Given the description of an element on the screen output the (x, y) to click on. 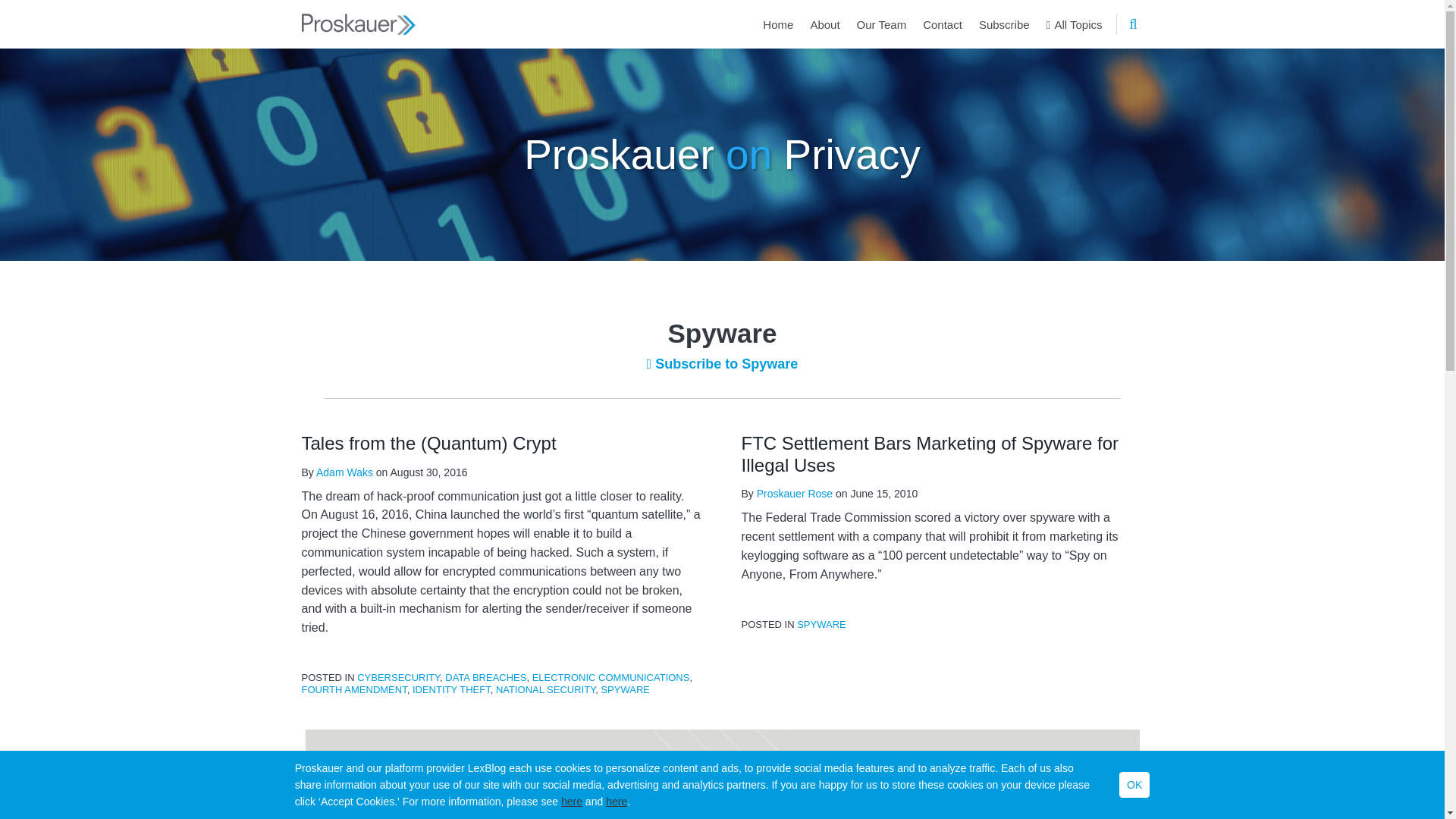
NATIONAL SECURITY (545, 689)
Proskauer on Privacy (722, 153)
Subscribe to this Blog (937, 774)
CYBERSECURITY (397, 677)
FOURTH AMENDMENT (354, 689)
FTC Settlement Bars Marketing of Spyware for Illegal Uses (930, 454)
SPYWARE (624, 689)
Contact (942, 24)
About (824, 24)
Adam Waks (343, 472)
OK (1134, 784)
SPYWARE (820, 624)
Subscribe (1003, 24)
here (571, 801)
here (616, 801)
